Given the description of an element on the screen output the (x, y) to click on. 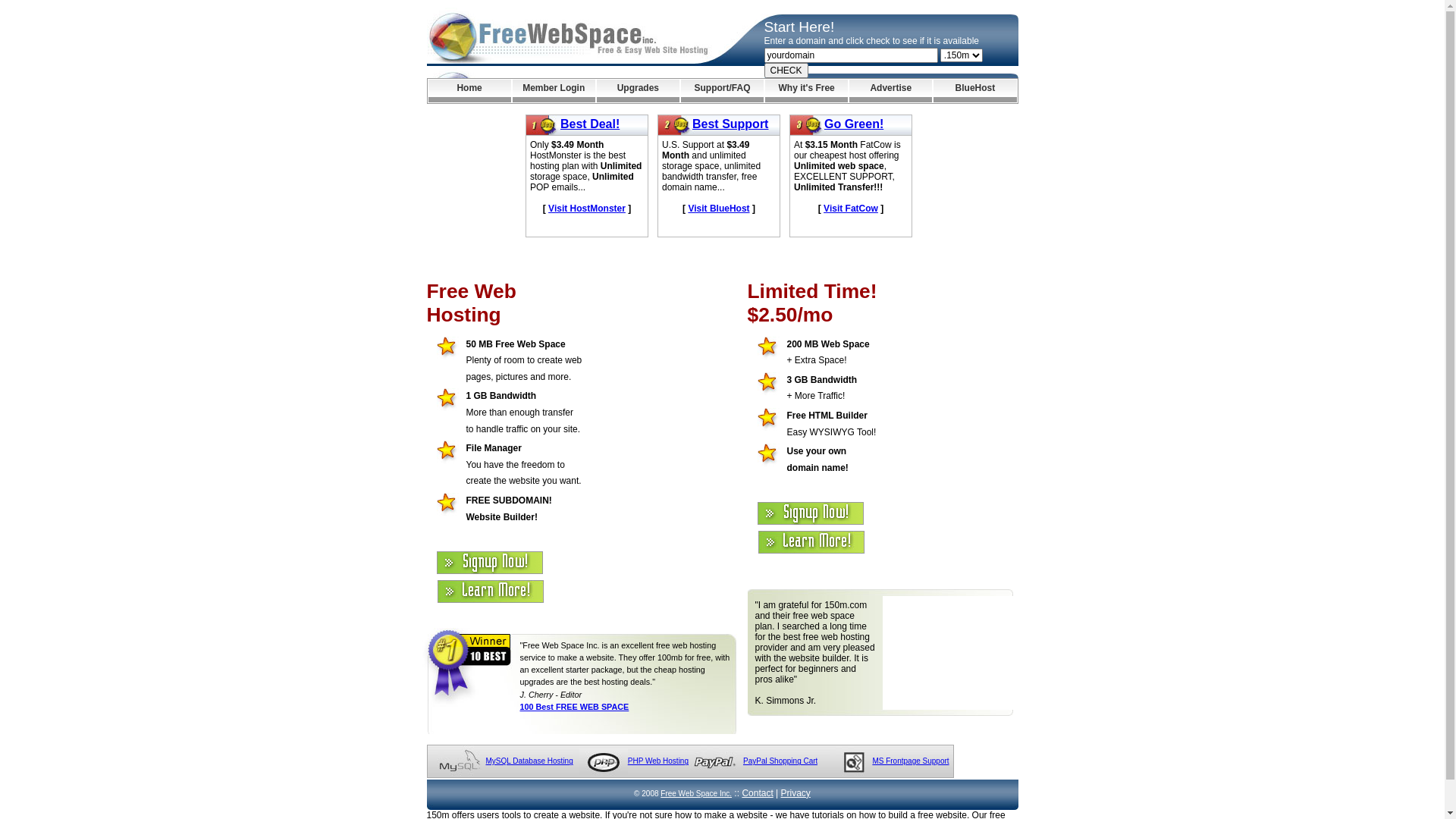
Upgrades Element type: text (637, 90)
Why it's Free Element type: text (806, 90)
MS Frontpage Support Element type: text (910, 760)
PayPal Shopping Cart Element type: text (780, 760)
Home Element type: text (468, 90)
Advertise Element type: text (890, 90)
100 Best FREE WEB SPACE Element type: text (574, 706)
PHP Web Hosting Element type: text (657, 760)
Member Login Element type: text (553, 90)
BlueHost Element type: text (974, 90)
Privacy Element type: text (795, 792)
Contact Element type: text (756, 792)
CHECK Element type: text (786, 70)
Free Web Space Inc. Element type: text (695, 793)
Support/FAQ Element type: text (721, 90)
MySQL Database Hosting Element type: text (528, 760)
